Given the description of an element on the screen output the (x, y) to click on. 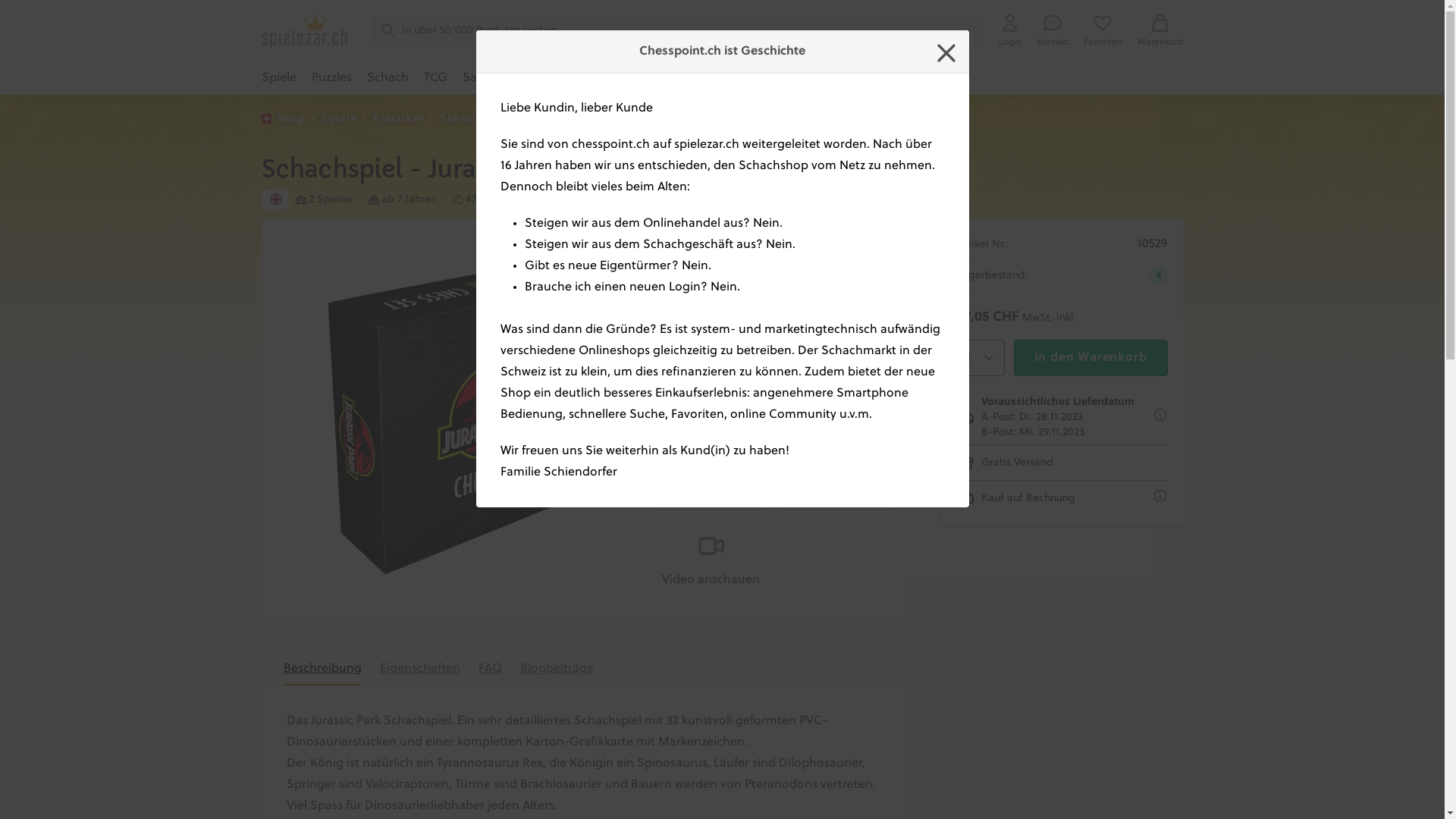
Warenkorb Element type: text (1160, 30)
Charts Element type: text (809, 78)
In den Warenkorb Element type: text (1090, 357)
TCG Element type: text (434, 78)
Spiele Element type: text (338, 118)
Eigenschaften Element type: text (419, 667)
Schachspiel - Jurassic Park Element type: hover (835, 292)
Spiele Element type: text (277, 78)
Klassiker Element type: text (398, 118)
Schachspiele Element type: text (533, 118)
Schachspiel - Jurassic Park Element type: hover (835, 435)
Schachspiel - Jurassic Park Element type: hover (460, 418)
Login Element type: text (1008, 30)
Schach Element type: text (387, 78)
Neu Element type: text (640, 78)
Sammelfiguren Element type: text (506, 78)
Beschreibung Element type: text (322, 667)
Puzzles Element type: text (330, 78)
Portal Element type: text (875, 78)
Schachspiel - Jurassic Park Element type: hover (710, 435)
FAQ Element type: text (489, 667)
Shop Element type: text (290, 118)
Aktionen Element type: text (693, 78)
Schachspiel - Jurassic Park Element type: hover (710, 292)
Sprache Element type: hover (274, 199)
Schach Element type: text (459, 118)
Fundus Element type: text (754, 78)
Kontakt Element type: text (1051, 30)
Community Element type: text (935, 78)
